Given the description of an element on the screen output the (x, y) to click on. 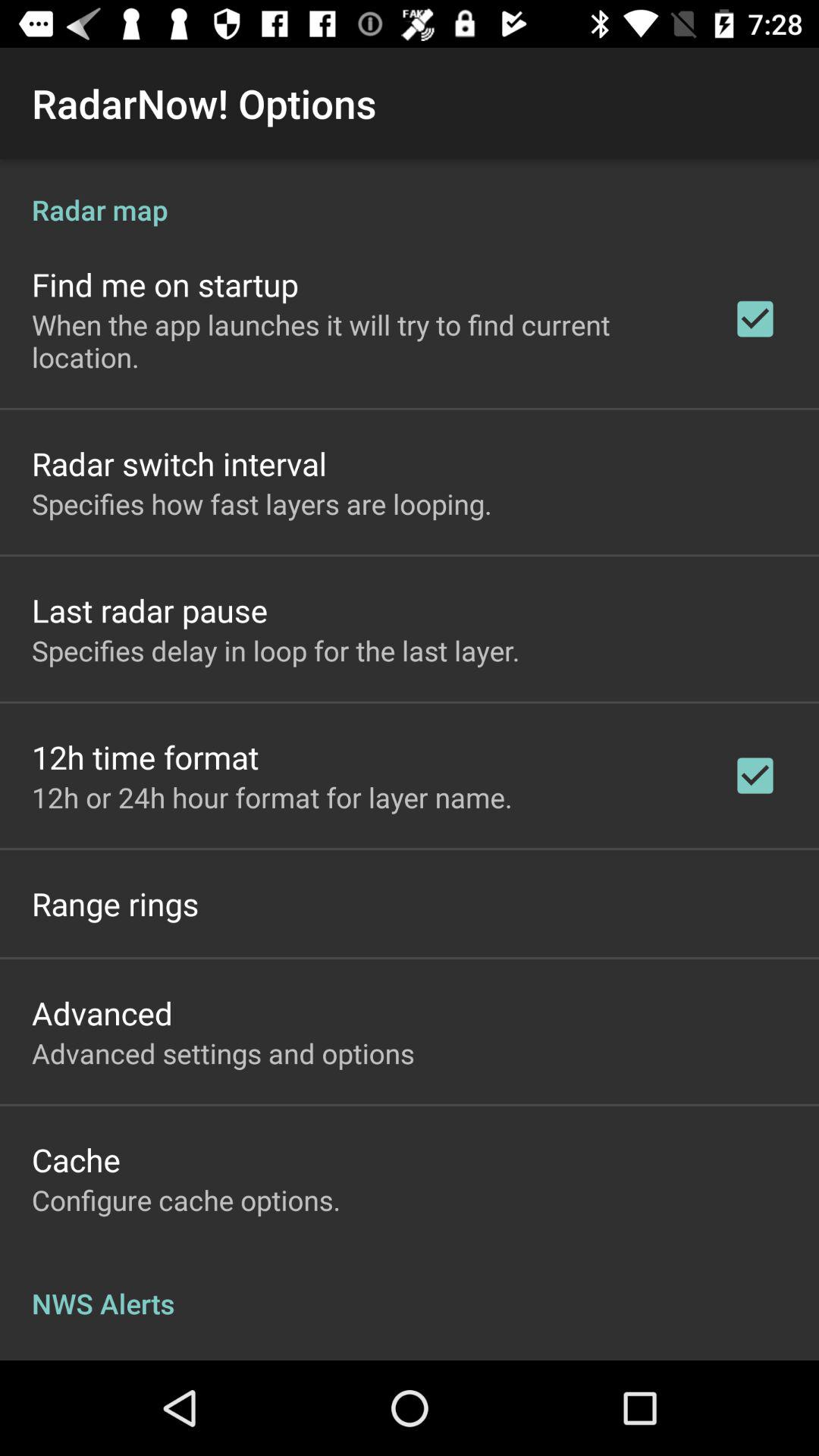
turn off the item above specifies delay in app (149, 609)
